Given the description of an element on the screen output the (x, y) to click on. 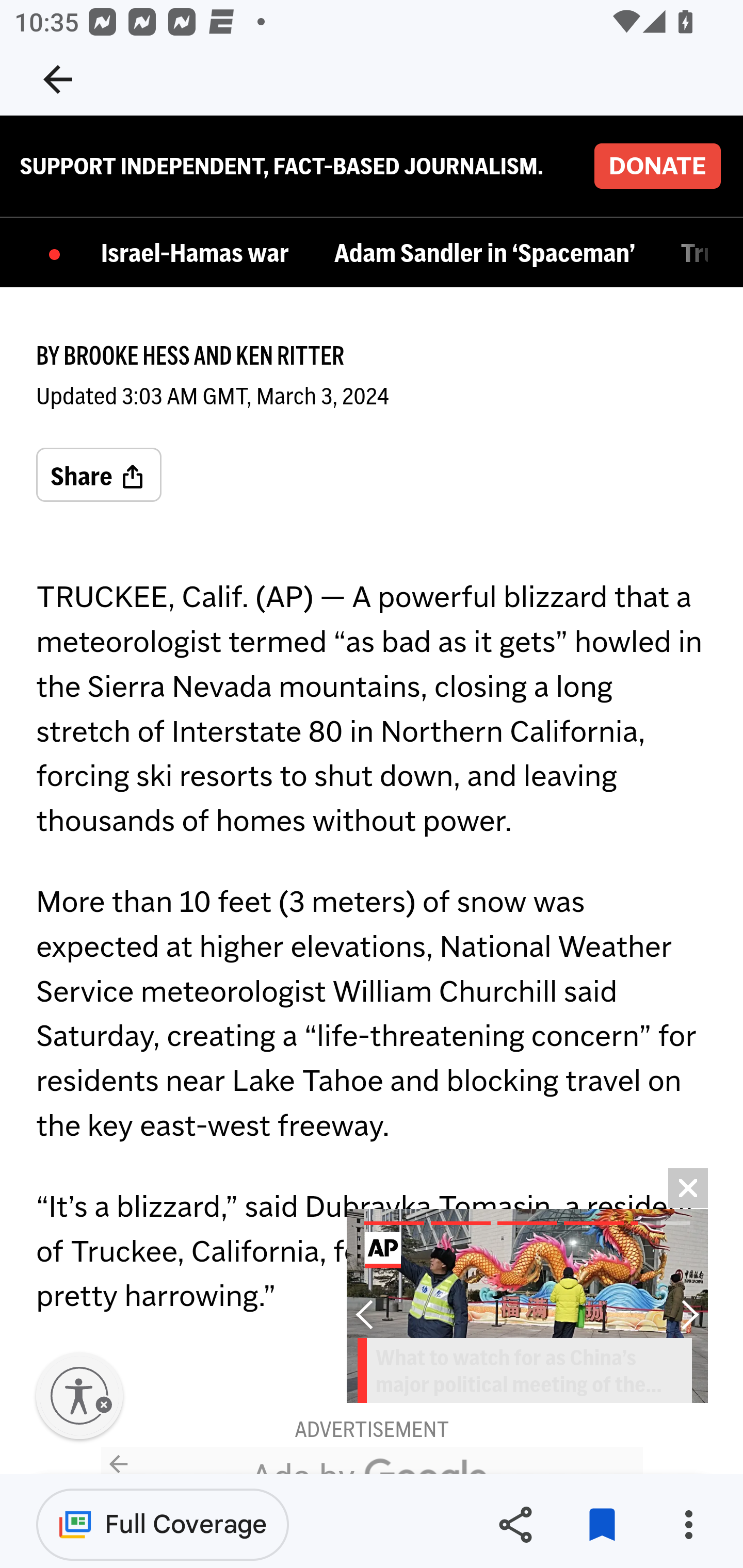
Navigate up (57, 79)
DONATE (657, 167)
Israel-Hamas war (200, 254)
Adam Sandler in ‘Spaceman’ (489, 254)
Share (99, 476)
Enable accessibility (79, 1396)
Share (514, 1524)
Remove from saved stories (601, 1524)
More options (688, 1524)
Full Coverage (162, 1524)
